Given the description of an element on the screen output the (x, y) to click on. 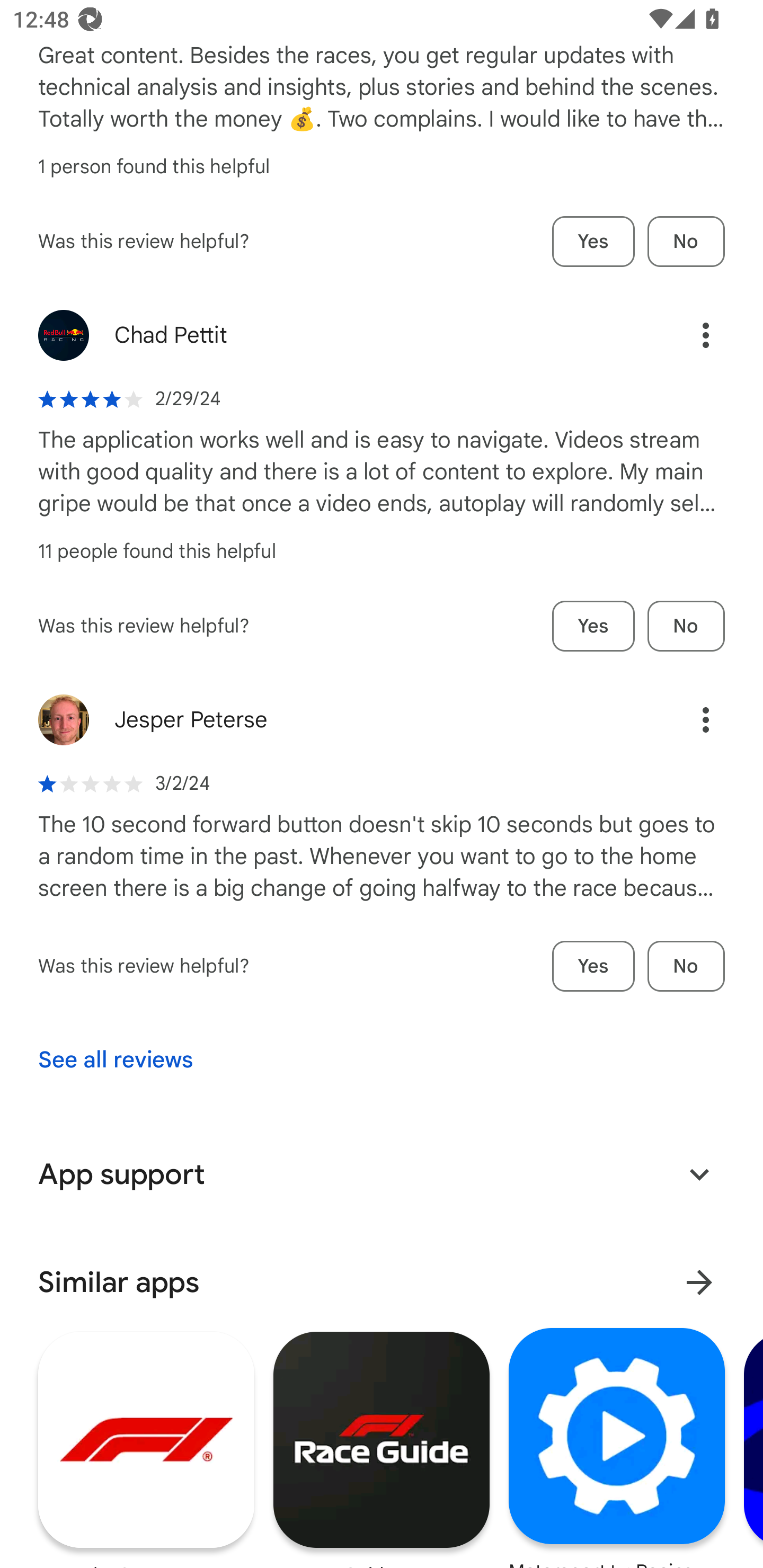
Yes (593, 241)
No (685, 241)
Options (686, 335)
Yes (593, 626)
No (685, 626)
Options (686, 719)
Yes (593, 966)
No (685, 966)
See all reviews (115, 1059)
App support Expand (381, 1174)
Expand (699, 1174)
Similar apps More results for Similar apps (381, 1282)
More results for Similar apps (699, 1282)
Formula 1®
Star rating: 4.1
 (145, 1447)
F1 Race Guide
 (381, 1447)
Motorsport.tv: Racing Videos
Star rating: 3.7
 (616, 1447)
